Given the description of an element on the screen output the (x, y) to click on. 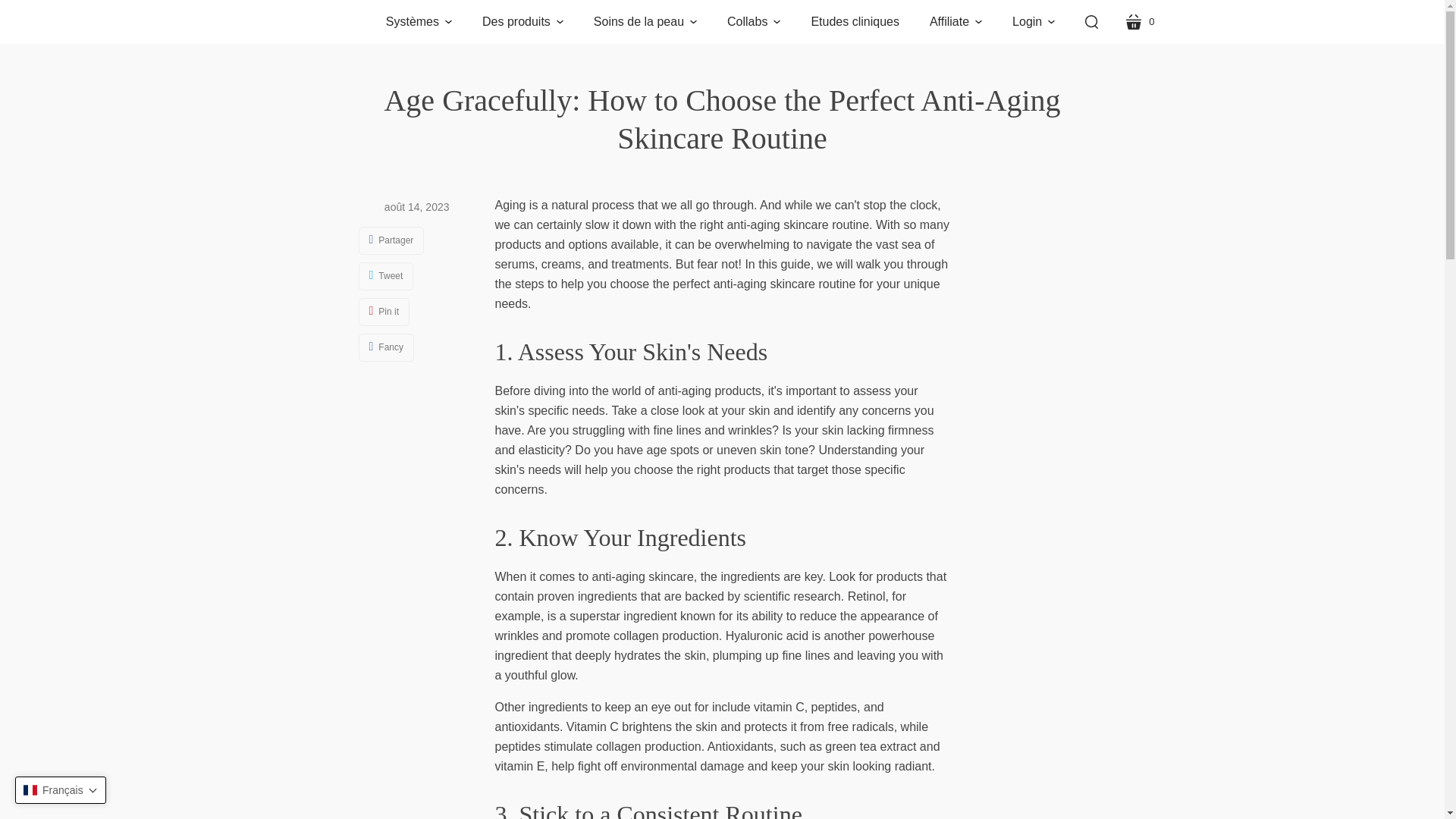
recherche (1091, 21)
Etudes cliniques (1139, 21)
